Given the description of an element on the screen output the (x, y) to click on. 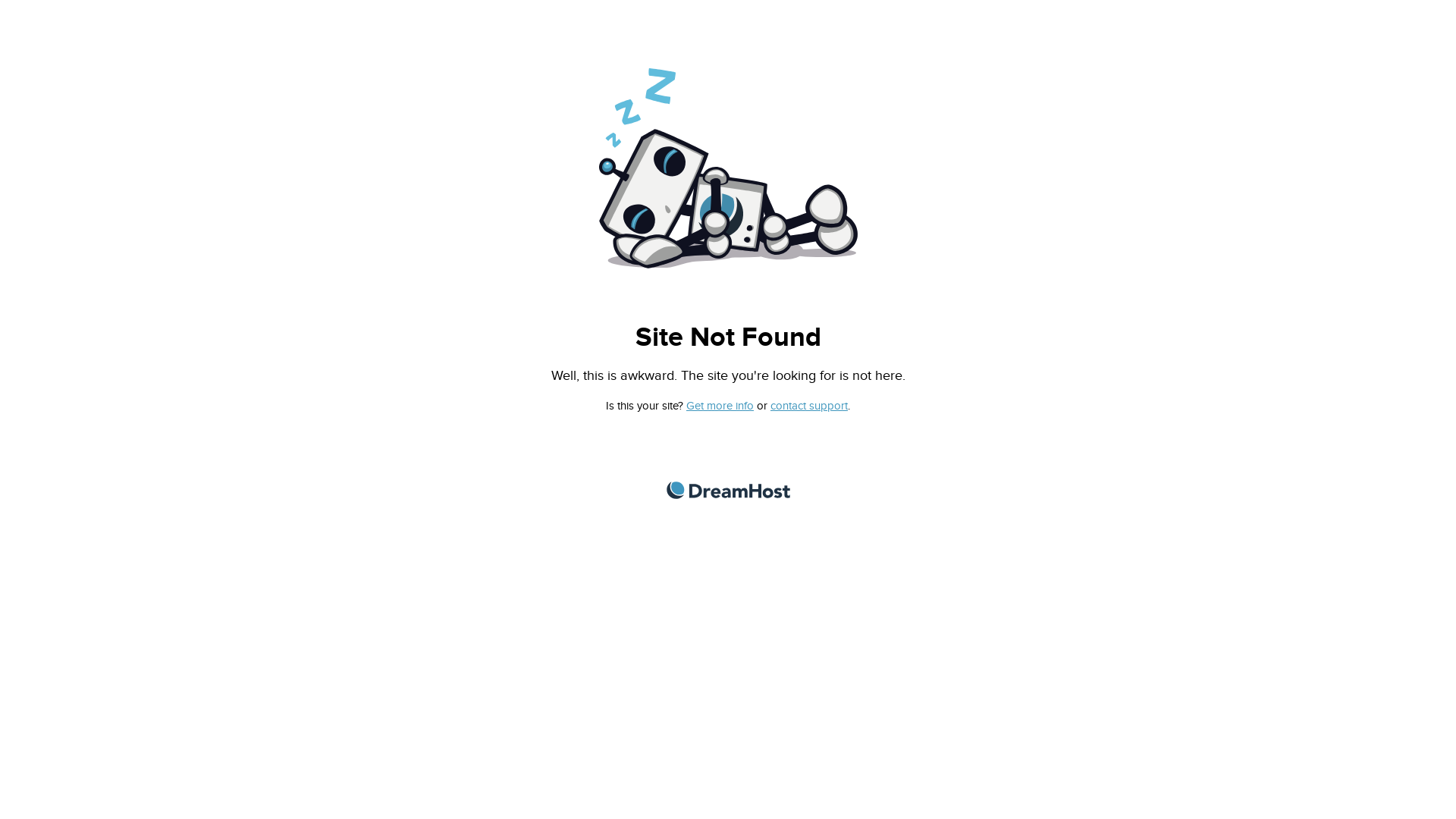
DreamHost Element type: text (727, 489)
Get more info Element type: text (719, 405)
contact support Element type: text (808, 405)
